Given the description of an element on the screen output the (x, y) to click on. 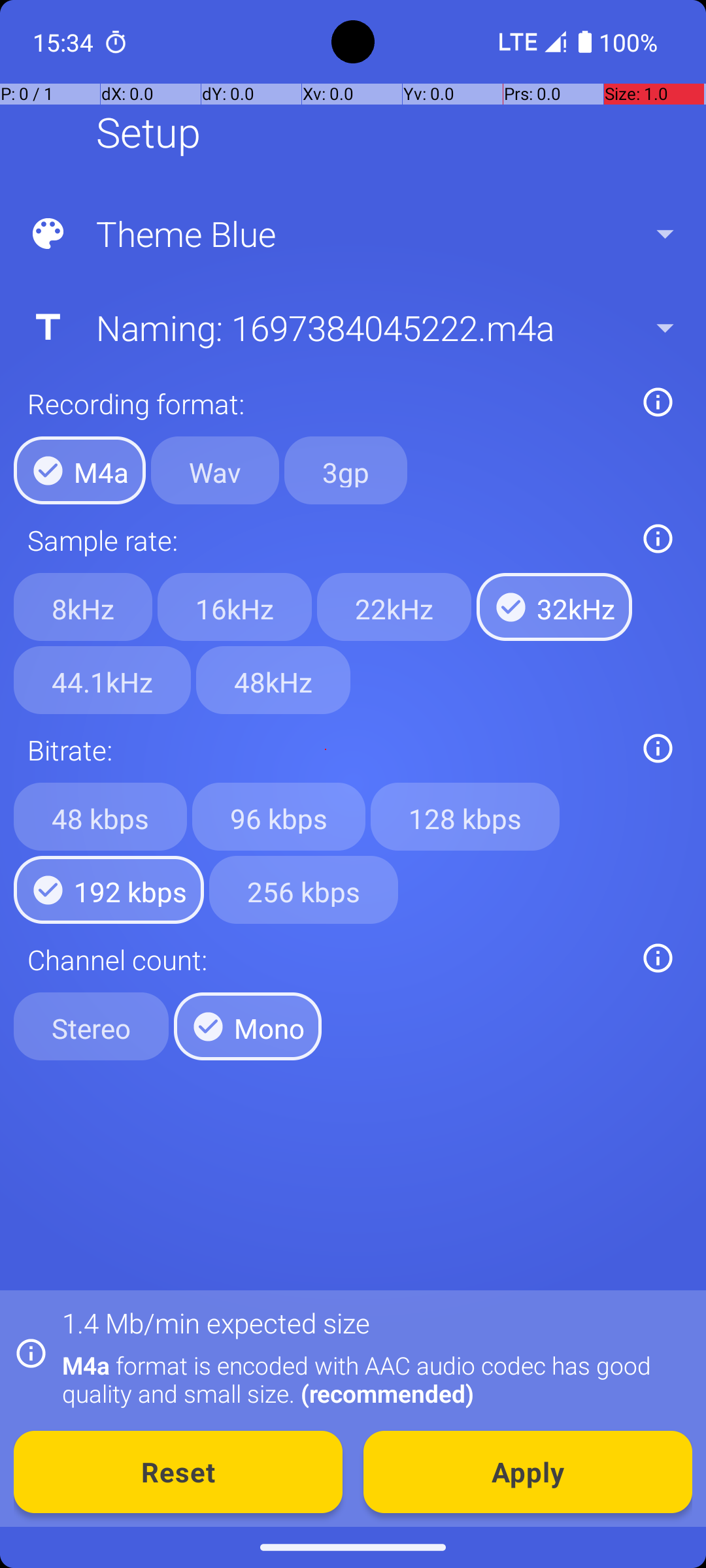
1.4 Mb/min expected size Element type: android.widget.TextView (215, 1322)
Theme Blue Element type: android.widget.TextView (352, 233)
Naming: 1697384045222.m4a Element type: android.widget.TextView (352, 327)
